Given the description of an element on the screen output the (x, y) to click on. 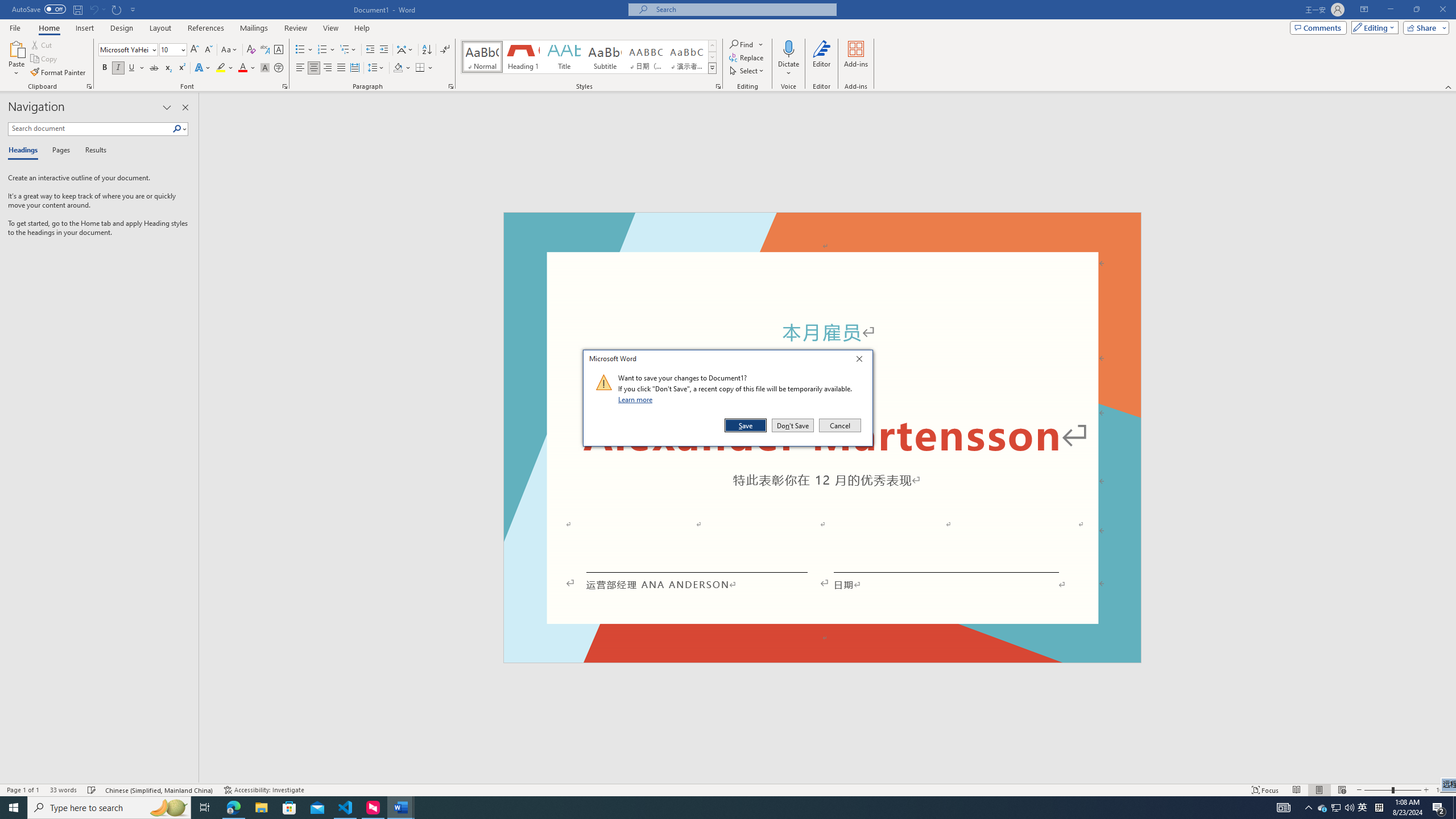
Mode (1372, 27)
Can't Undo (96, 9)
Page Number Page 1 of 1 (22, 790)
Paragraph... (450, 85)
Task View (204, 807)
Change Case (229, 49)
Results (91, 150)
